Given the description of an element on the screen output the (x, y) to click on. 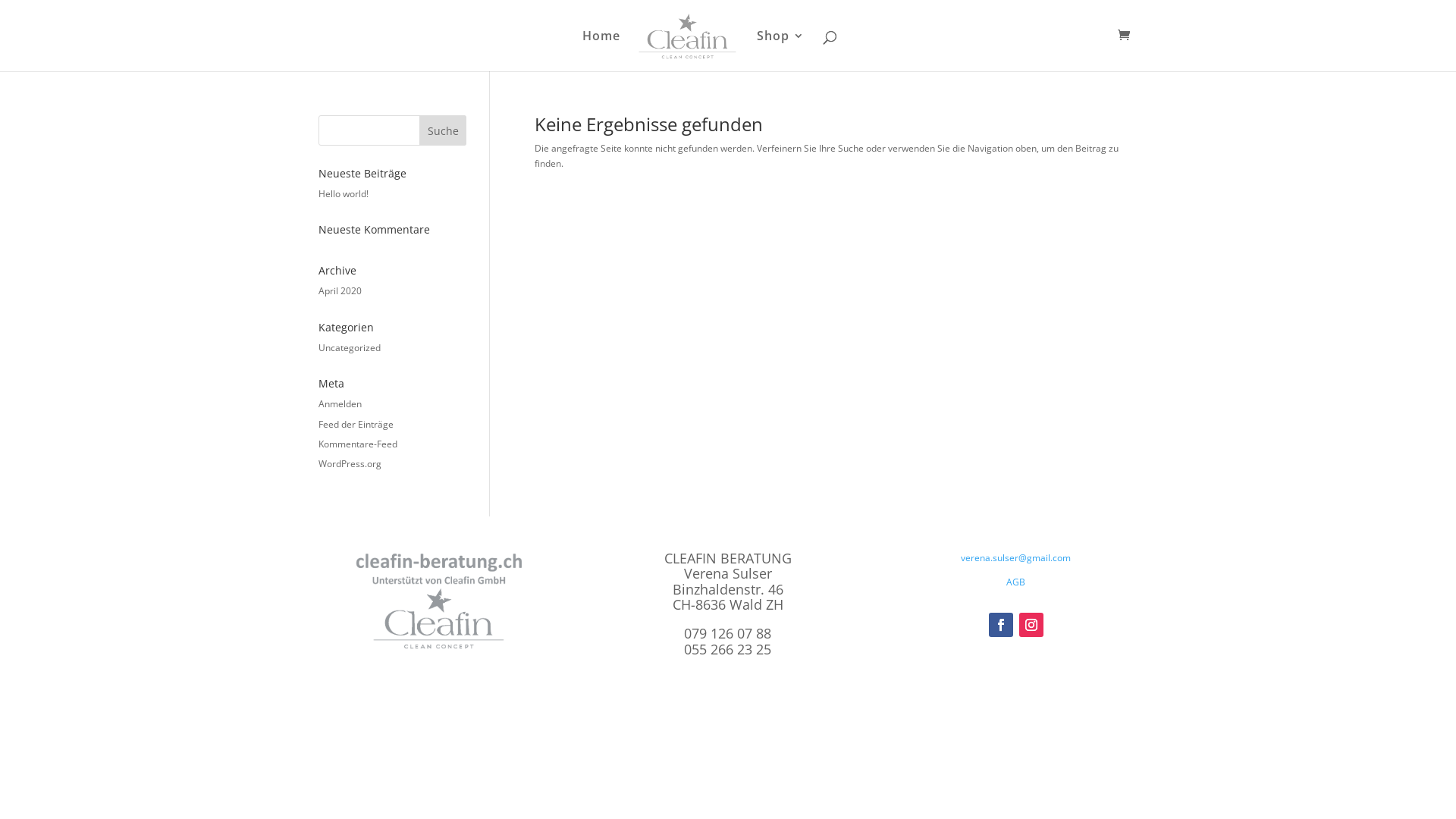
Folge auf Instagram Element type: hover (1031, 624)
Shop Element type: text (780, 50)
Kommentare-Feed Element type: text (357, 443)
Home Element type: text (601, 50)
Suche Element type: text (443, 130)
Uncategorized Element type: text (349, 347)
April 2020 Element type: text (339, 290)
LogoCleafin-Beratung.chGrau Element type: hover (439, 601)
Folge auf Facebook Element type: hover (1000, 624)
Hello world! Element type: text (343, 193)
Anmelden Element type: text (339, 403)
AGB Element type: text (1015, 581)
WordPress.org Element type: text (349, 463)
verena.sulser@gmail.com Element type: text (1015, 557)
